Given the description of an element on the screen output the (x, y) to click on. 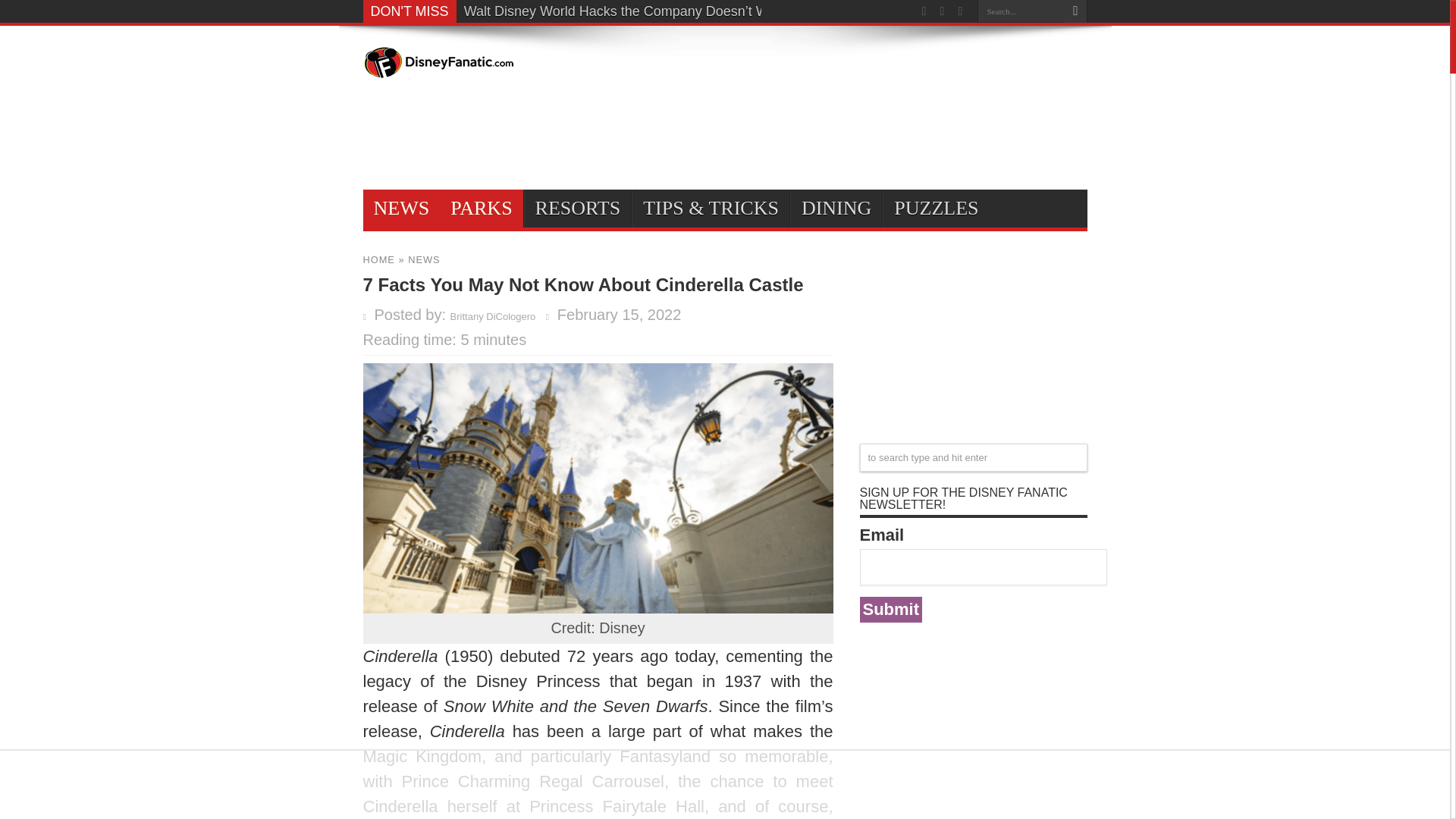
PUZZLES (935, 208)
Search... (1020, 11)
NEWS (400, 208)
Brittany DiCologero (492, 316)
This Is the Only Disney World Ride Worth the 120-Minute Wait (652, 11)
NEWS (423, 259)
PARKS (480, 208)
to search type and hit enter (973, 457)
Search (1075, 11)
DisneyFanatic.com (437, 67)
HOME (378, 259)
This Is the Only Disney World Ride Worth the 120-Minute Wait (652, 11)
RESORTS (577, 208)
DINING (836, 208)
